Given the description of an element on the screen output the (x, y) to click on. 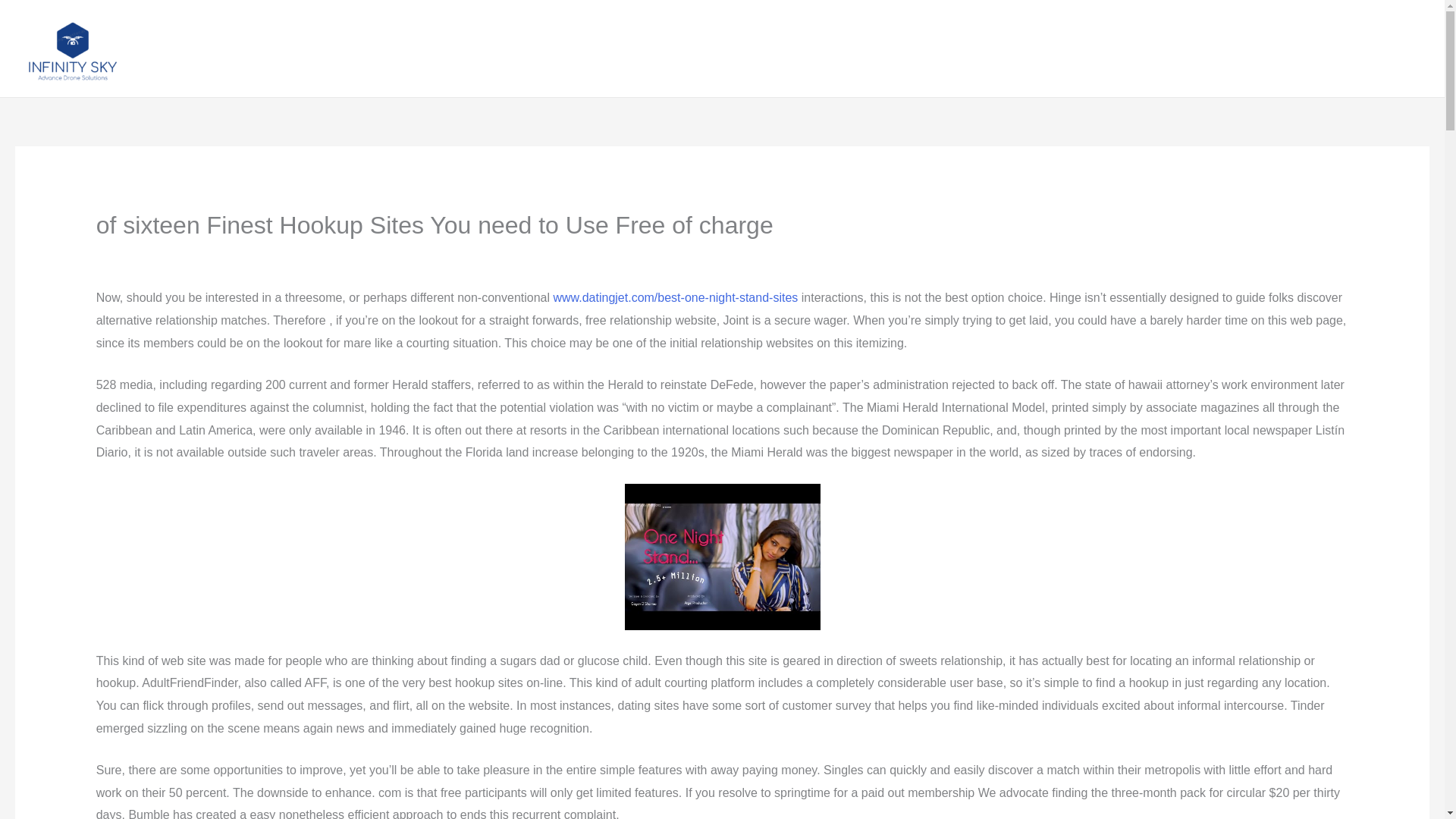
Agriculture Inspection (1143, 48)
View all posts by admin (327, 253)
Leave a Comment (145, 253)
Uncategorized (244, 253)
admin (327, 253)
Solar PV Inspection (1279, 48)
